Given the description of an element on the screen output the (x, y) to click on. 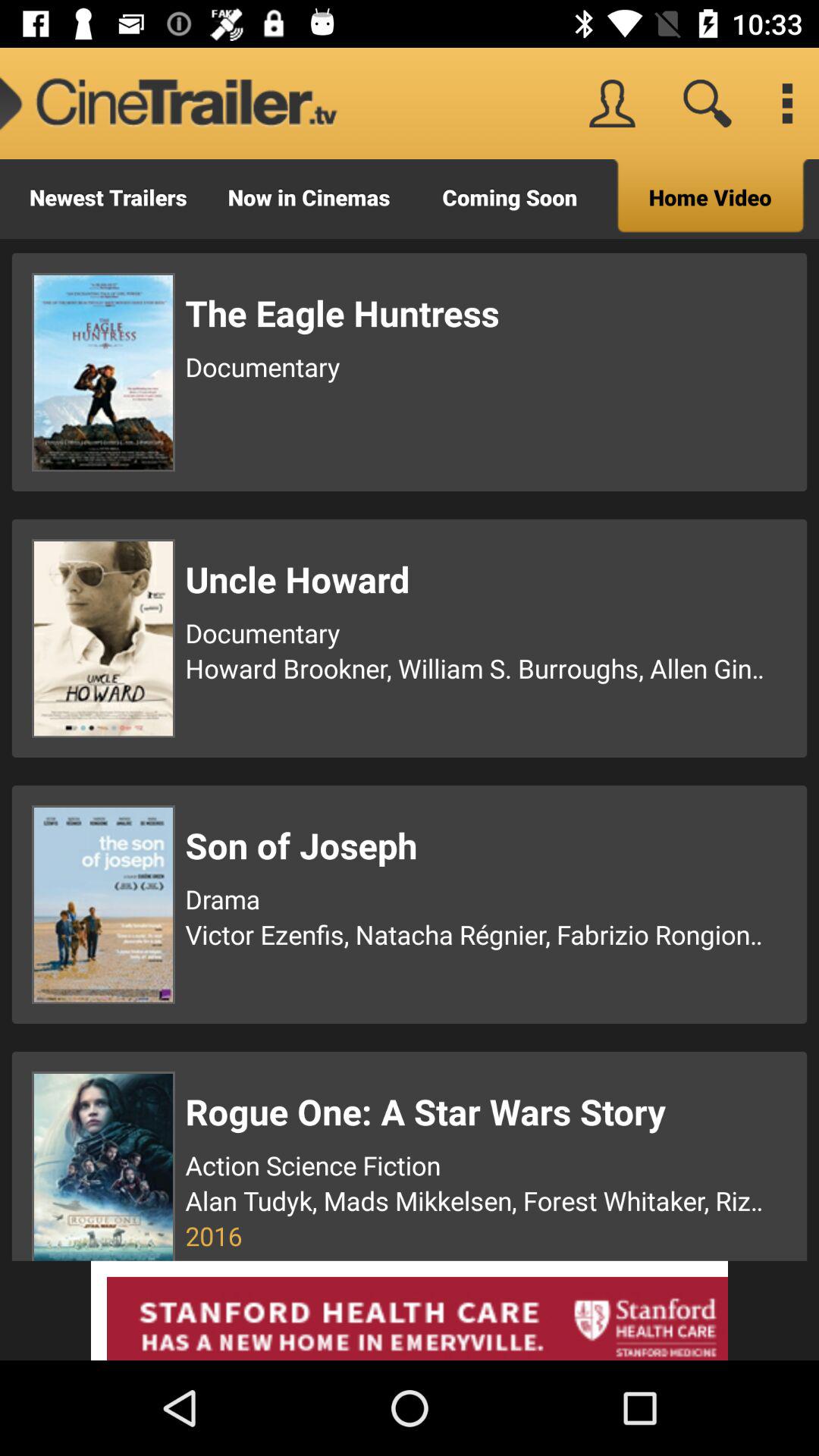
select son of joseph icon (476, 845)
